Given the description of an element on the screen output the (x, y) to click on. 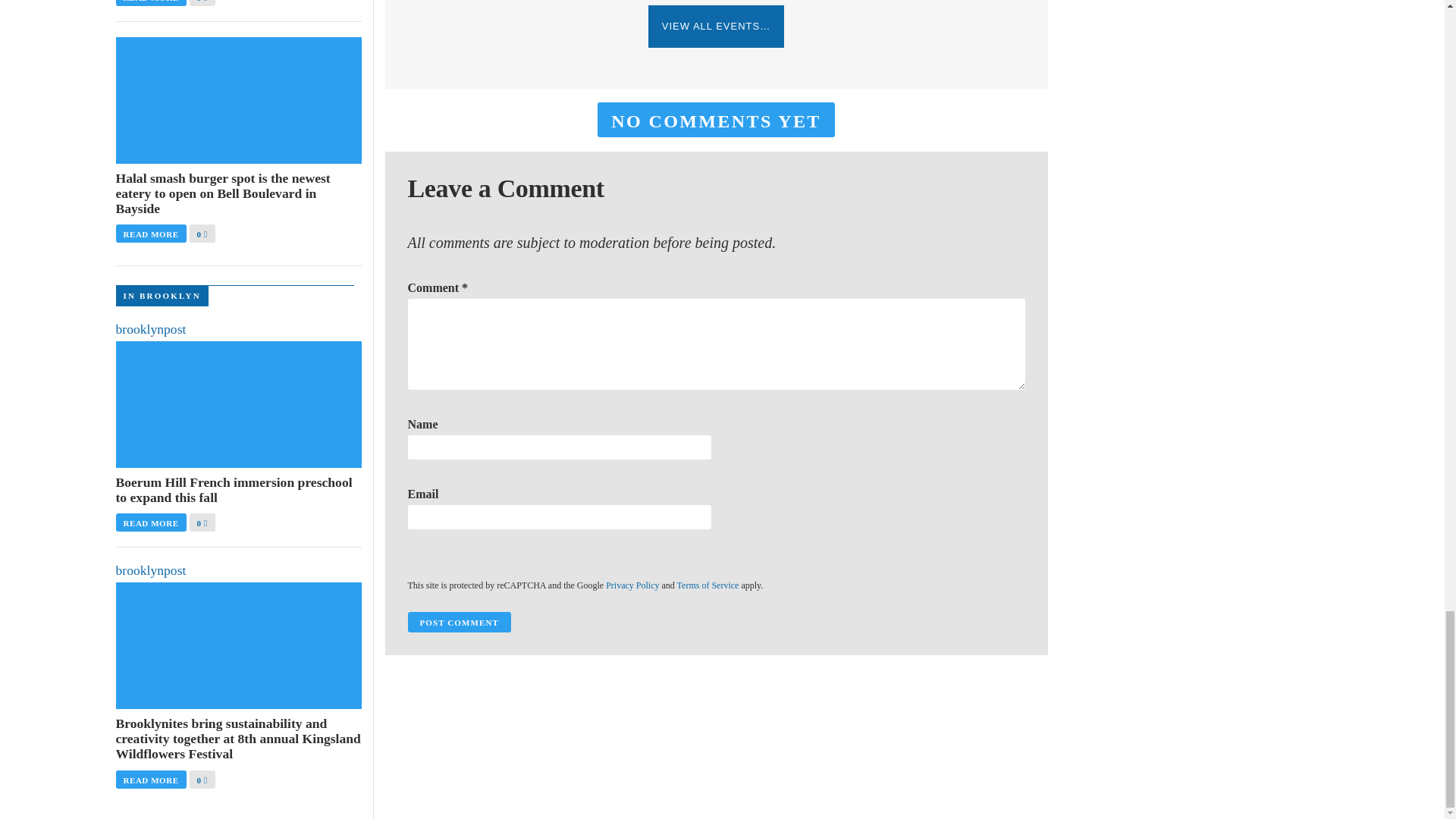
Post Comment (459, 621)
